Given the description of an element on the screen output the (x, y) to click on. 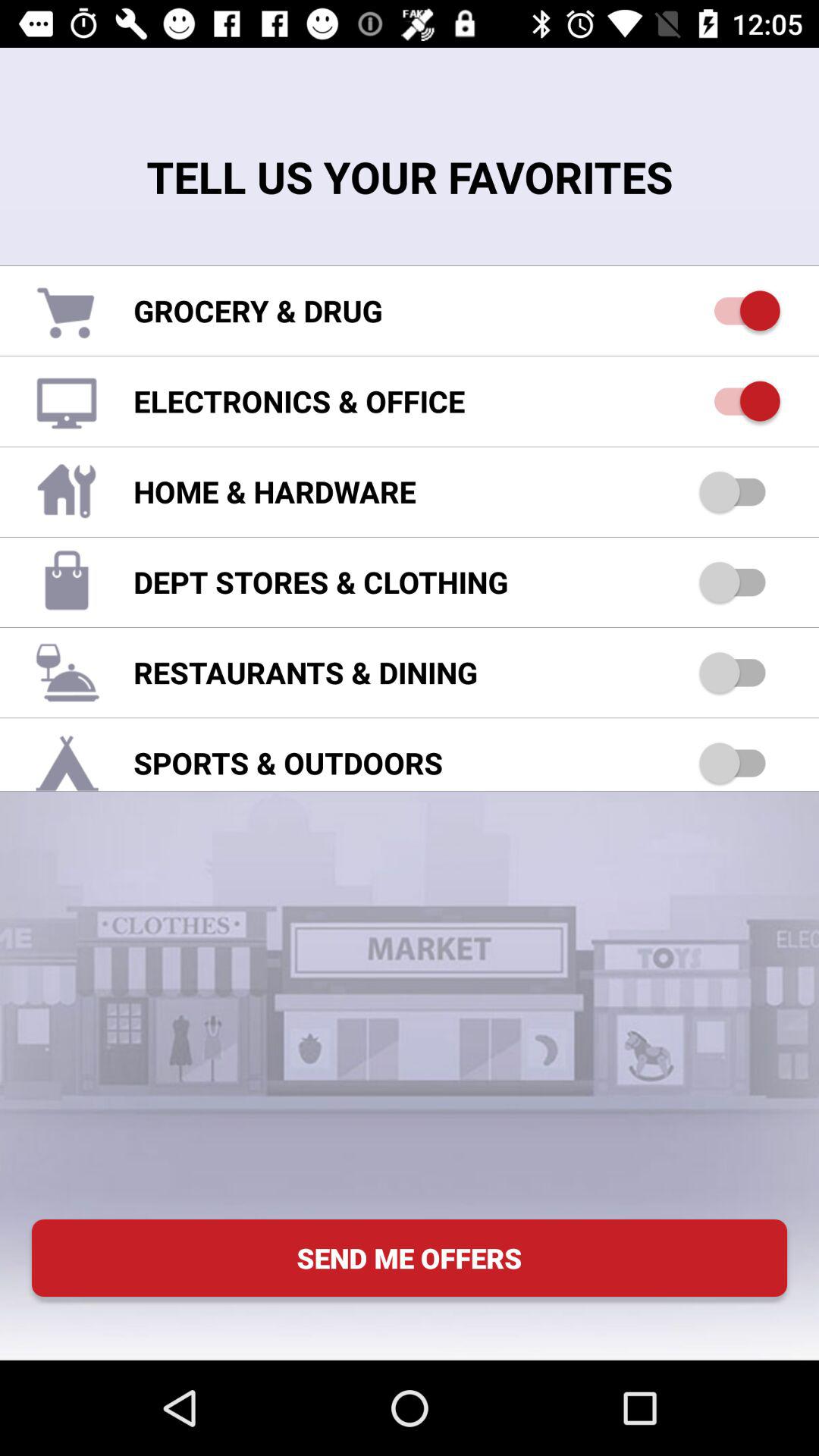
toggle restaurants and dining (739, 672)
